Given the description of an element on the screen output the (x, y) to click on. 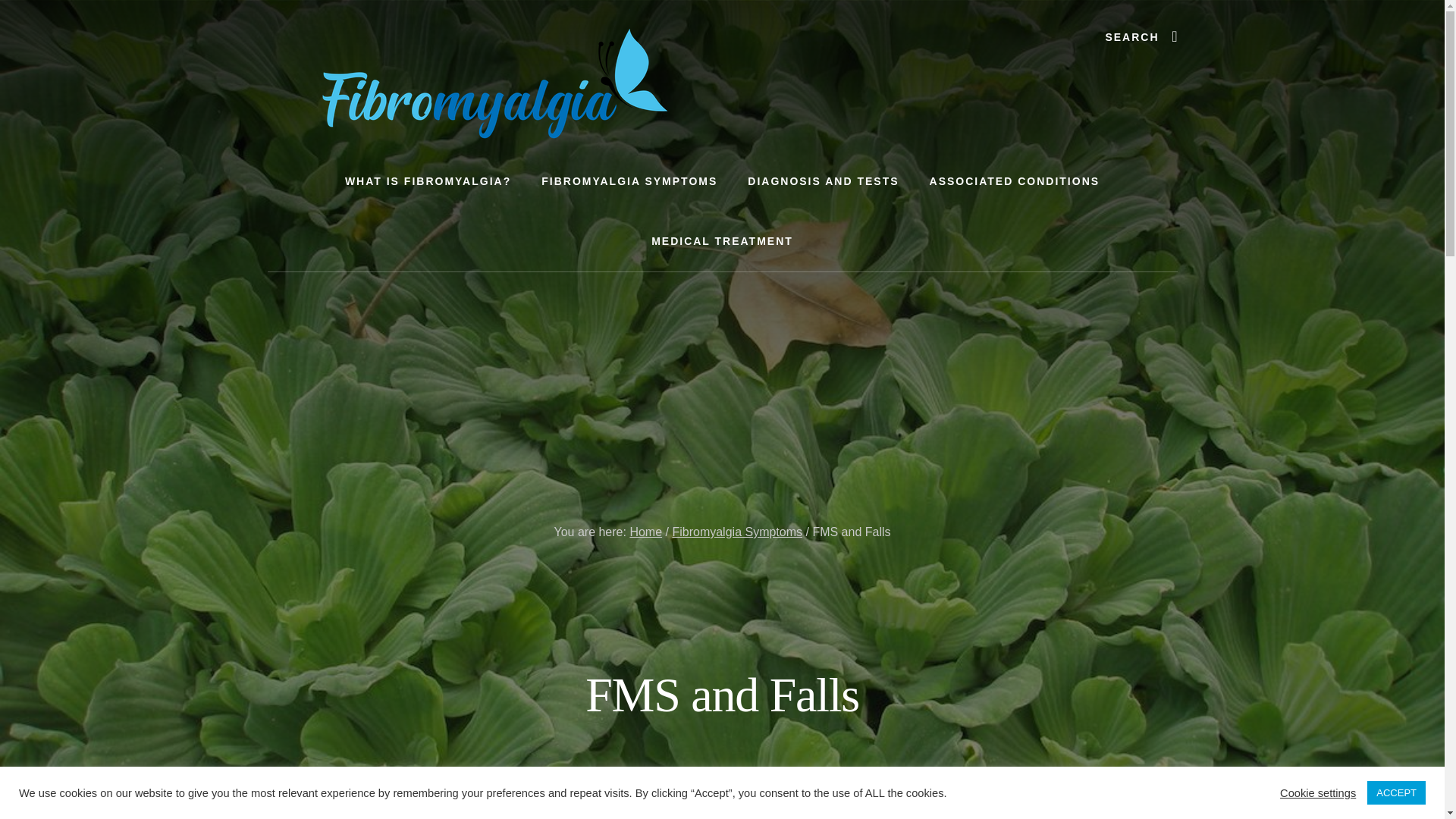
Fibromyalgia Symptoms (736, 531)
DIAGNOSIS AND TESTS (823, 181)
ASSOCIATED CONDITIONS (1014, 181)
Home (645, 531)
MEDICAL TREATMENT (722, 241)
